Given the description of an element on the screen output the (x, y) to click on. 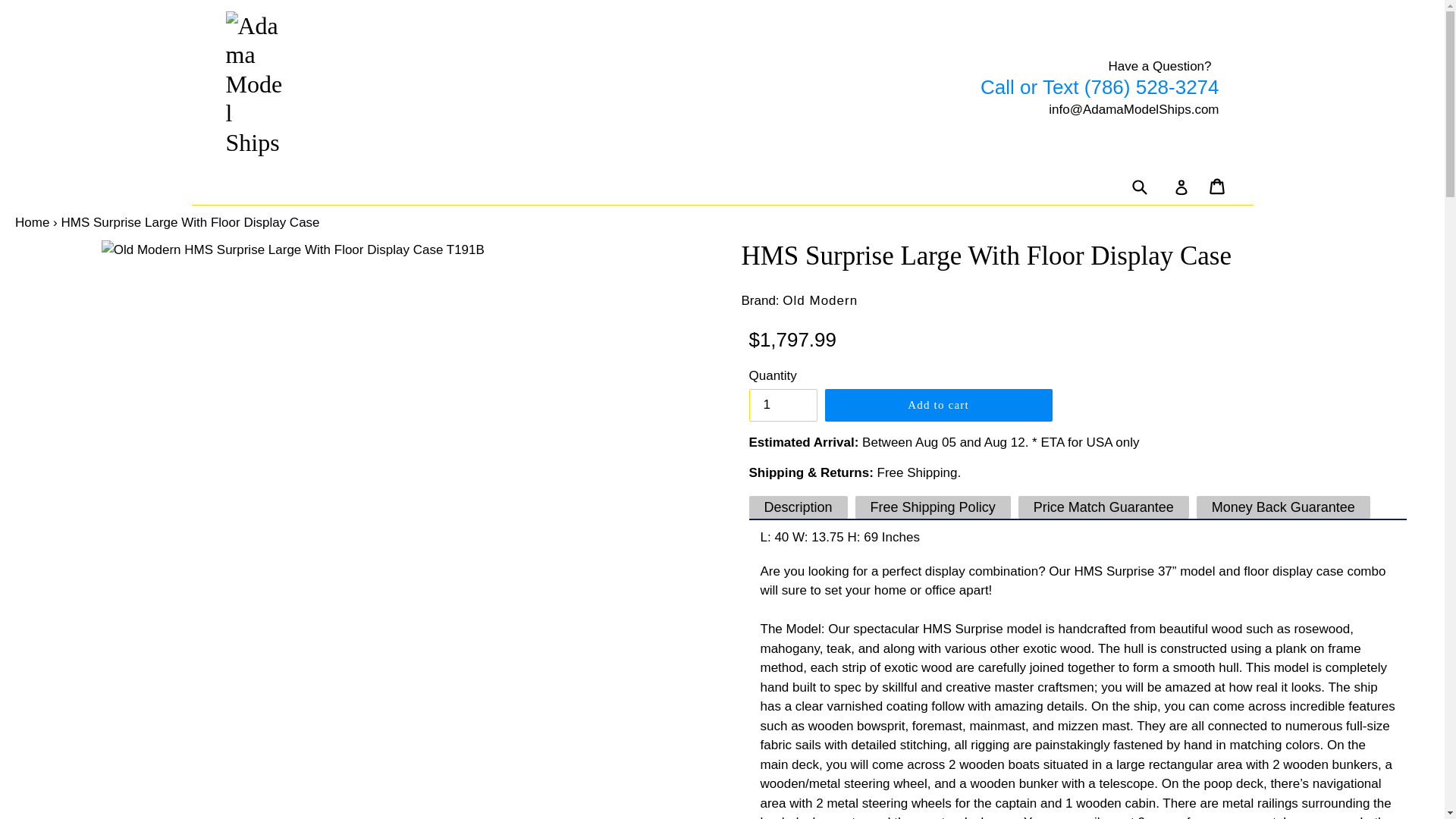
Description (782, 507)
Home (16, 222)
1 (767, 404)
Home (16, 222)
Add to cart (922, 405)
